Given the description of an element on the screen output the (x, y) to click on. 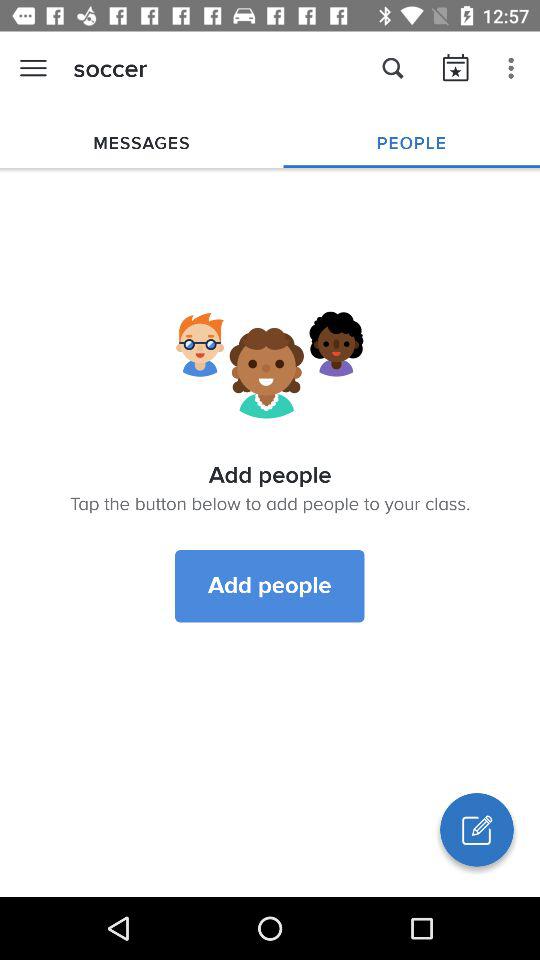
create post (477, 829)
